Given the description of an element on the screen output the (x, y) to click on. 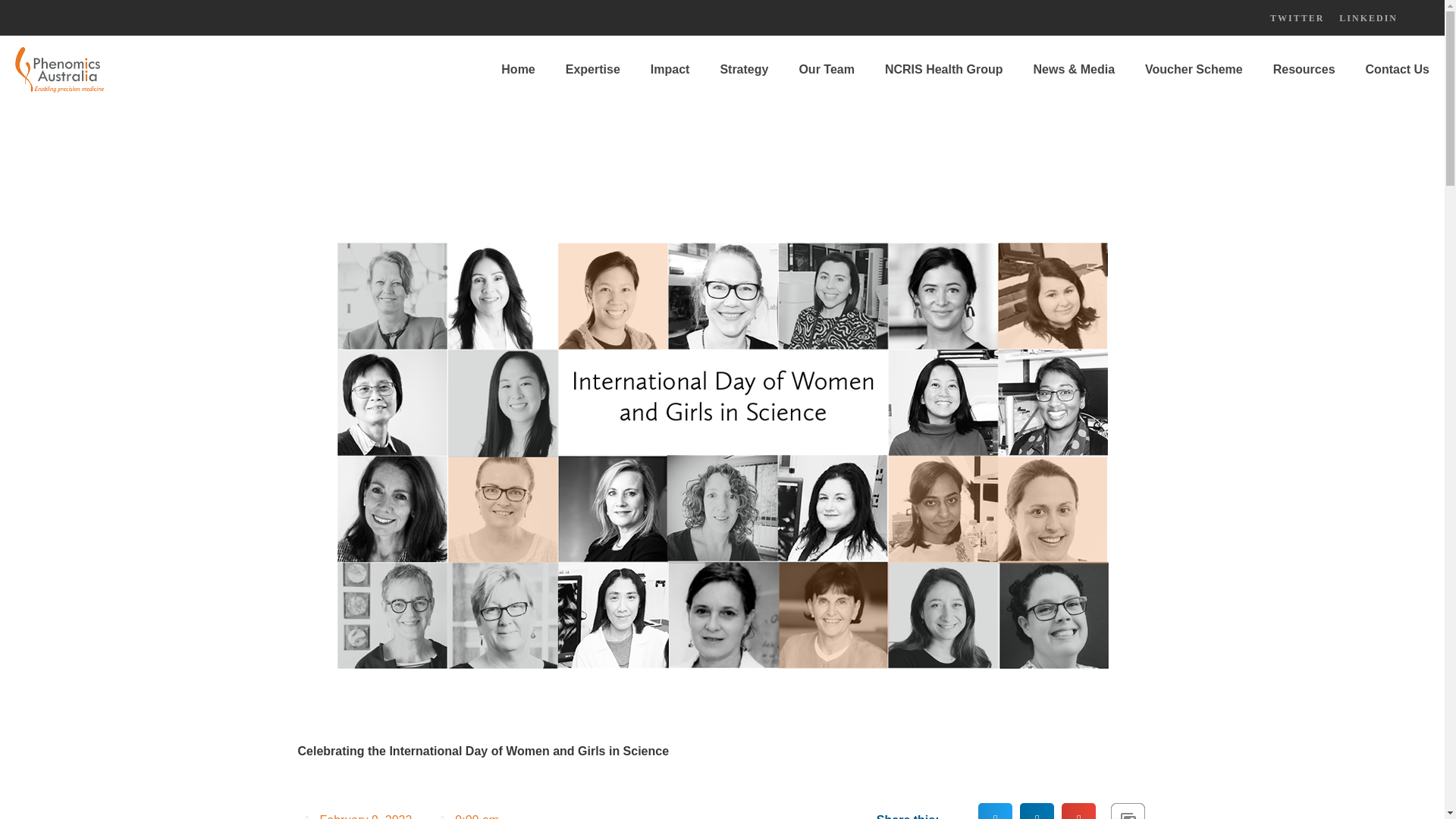
TWITTER (1296, 18)
Resources (1304, 70)
Our Team (826, 70)
February 9, 2022 (358, 816)
LINKEDIN (1368, 18)
Phenomics Australia (58, 70)
Impact (669, 70)
Voucher Scheme (1193, 70)
Expertise (592, 70)
Strategy (743, 70)
NCRIS Health Group (943, 70)
Home (518, 70)
